Given the description of an element on the screen output the (x, y) to click on. 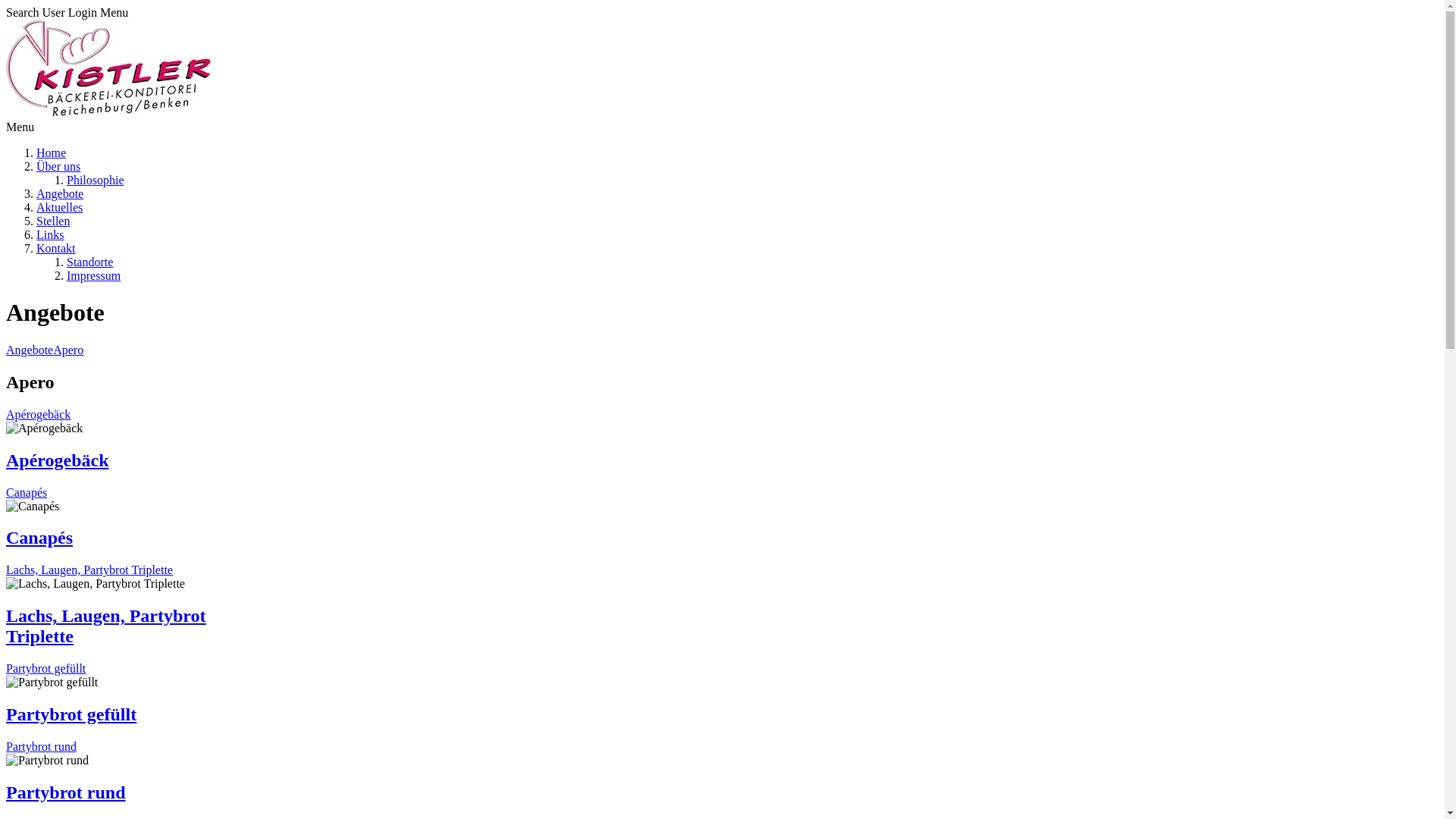
Partybrot rund Element type: text (41, 746)
Philosophie Element type: text (95, 179)
Partybrot rund Element type: text (65, 792)
Impressum Element type: text (93, 275)
Links Element type: text (49, 234)
Stellen Element type: text (52, 220)
Angebote Element type: text (59, 193)
Lachs, Laugen, Partybrot Triplette Element type: text (89, 569)
Apero Element type: text (68, 349)
Lachs, Laugen, Partybrot Triplette Element type: text (106, 625)
Kontakt Element type: text (55, 247)
Home Element type: text (50, 152)
Aktuelles Element type: text (59, 206)
Standorte Element type: text (89, 261)
Angebote Element type: text (29, 349)
